Given the description of an element on the screen output the (x, y) to click on. 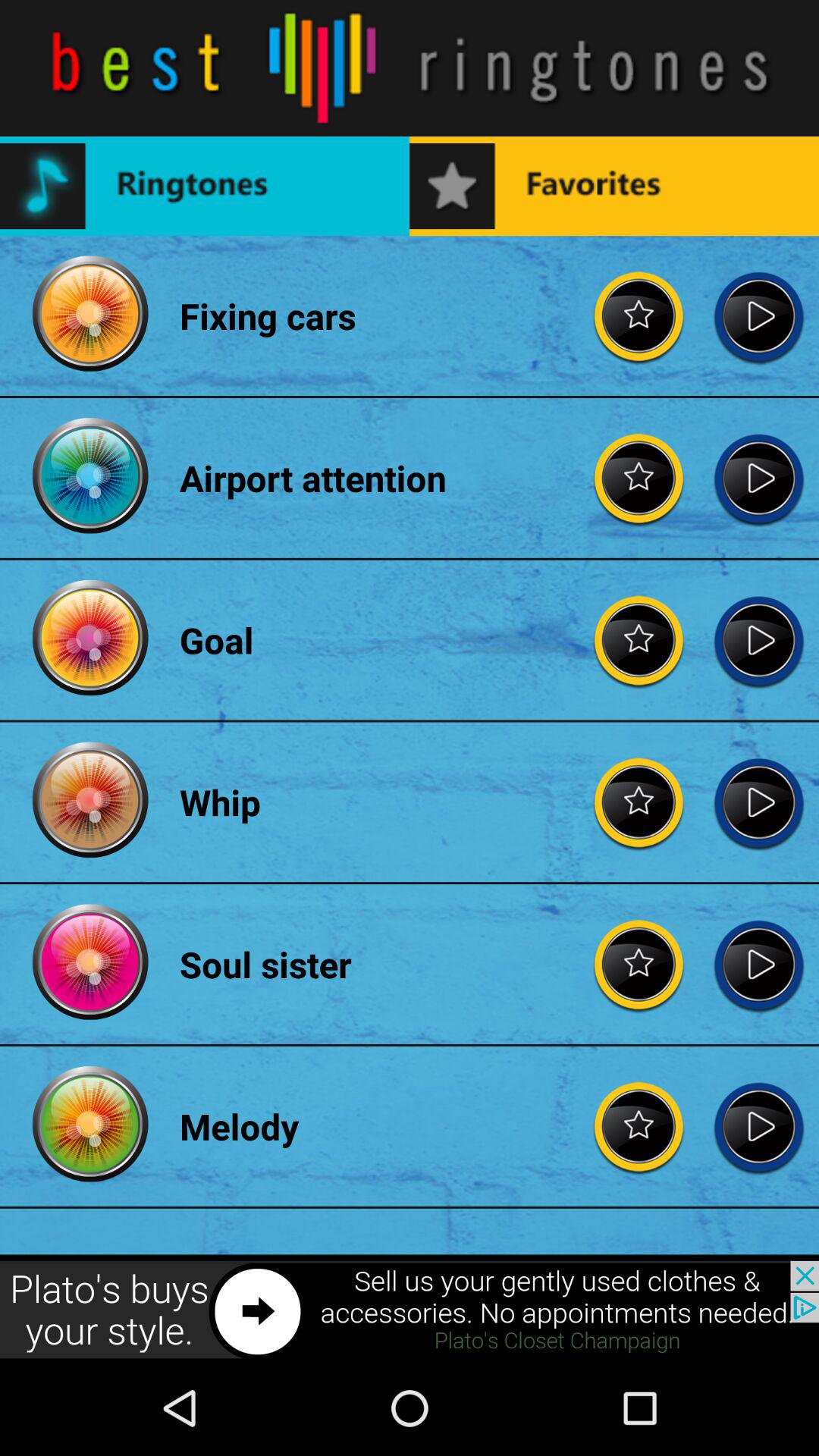
play button (758, 639)
